Given the description of an element on the screen output the (x, y) to click on. 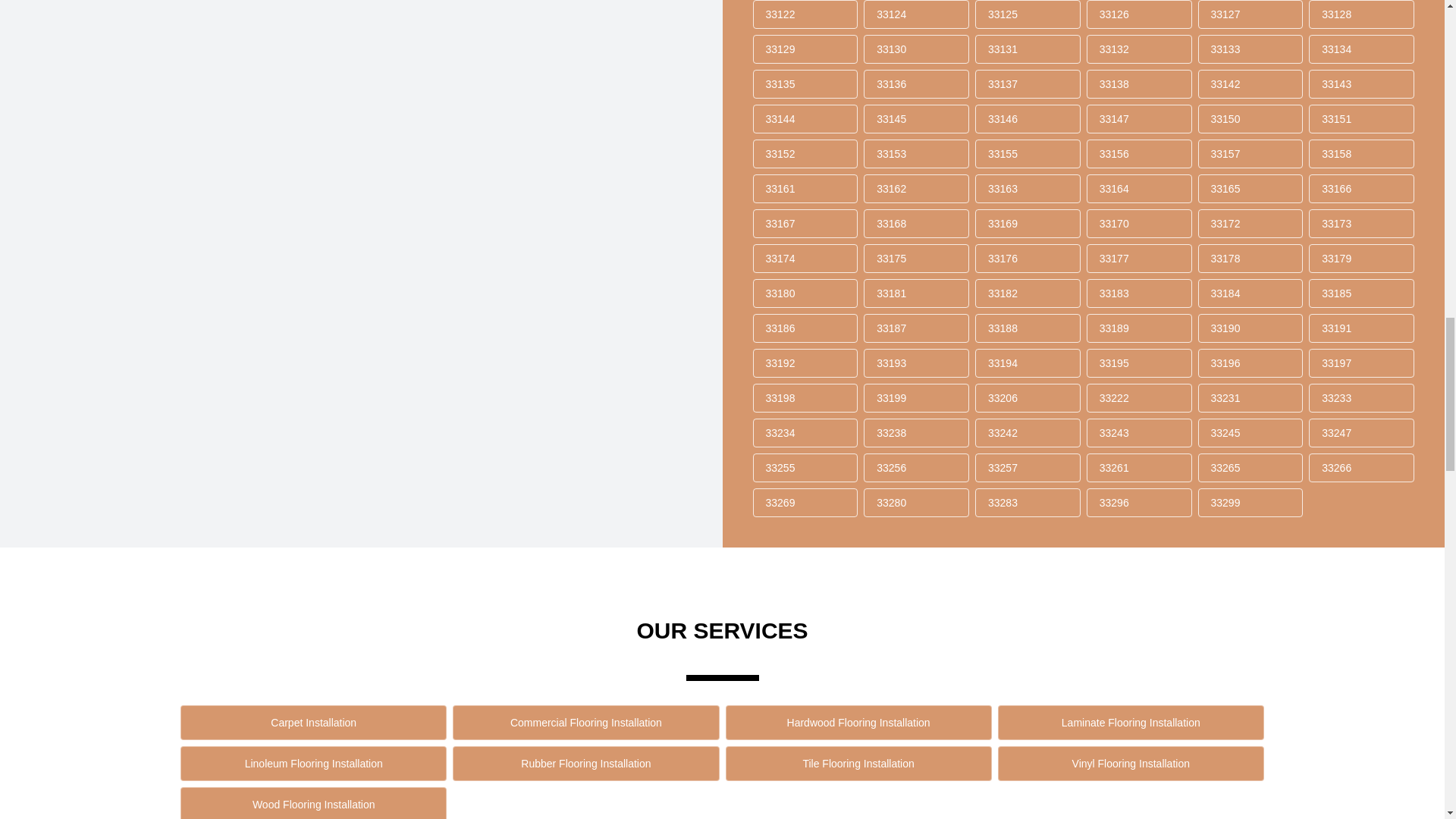
33126 (1139, 14)
33133 (1250, 49)
33147 (1139, 118)
33136 (916, 83)
33144 (804, 118)
33122 (804, 14)
33150 (1250, 118)
33143 (1360, 83)
33146 (1027, 118)
33134 (1360, 49)
33142 (1250, 83)
33145 (916, 118)
33135 (804, 83)
33127 (1250, 14)
33130 (916, 49)
